Given the description of an element on the screen output the (x, y) to click on. 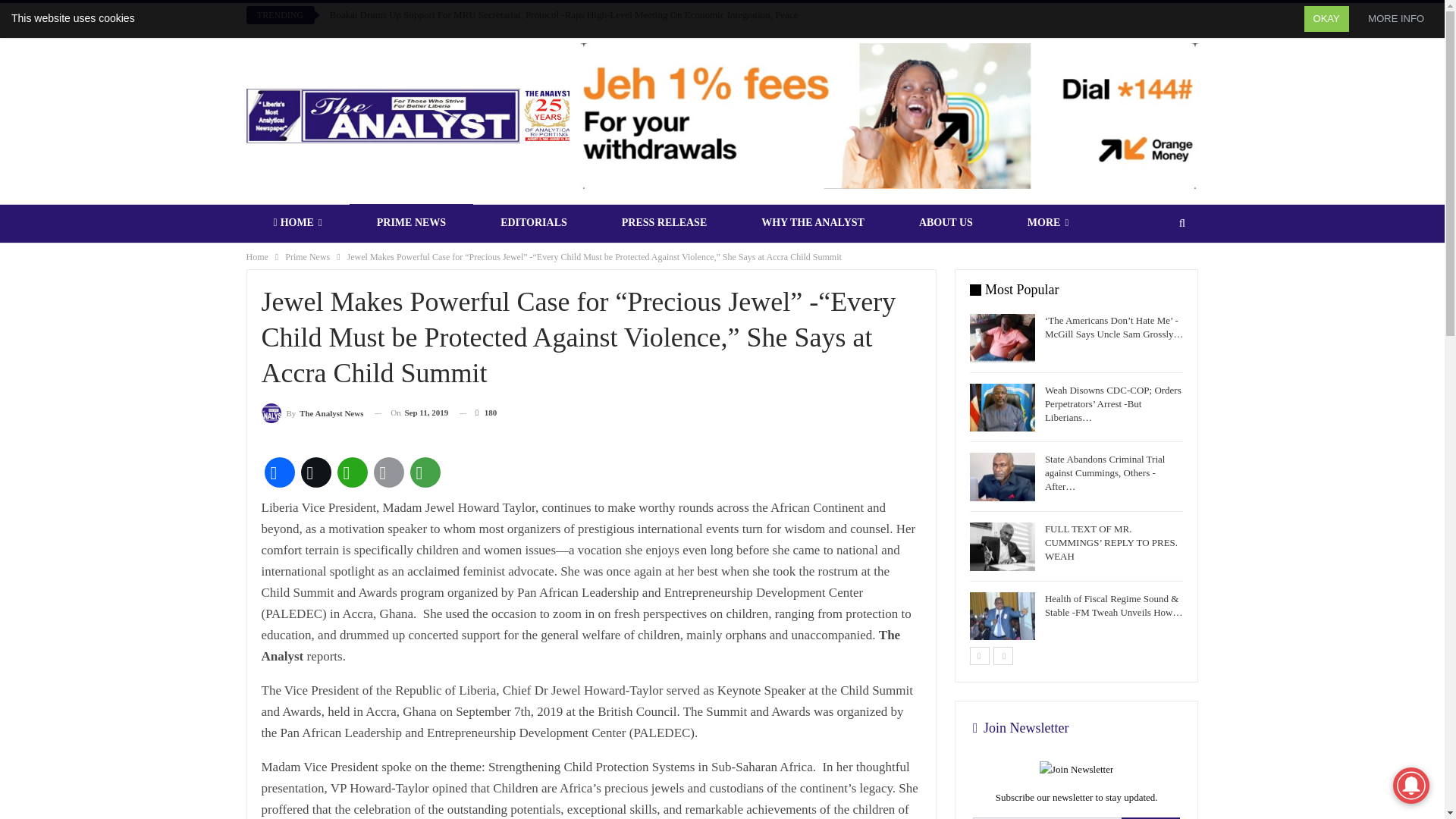
More Options (424, 472)
MORE (1048, 222)
HOME (297, 222)
Browse Author Articles (311, 412)
WHY THE ANALYST (812, 222)
ABOUT US (945, 222)
WhatsApp (351, 472)
By The Analyst News (311, 412)
EDITORIALS (533, 222)
Prime News (307, 256)
Facebook (278, 472)
PRESS RELEASE (663, 222)
PRIME NEWS (411, 222)
Email This (387, 472)
